Given the description of an element on the screen output the (x, y) to click on. 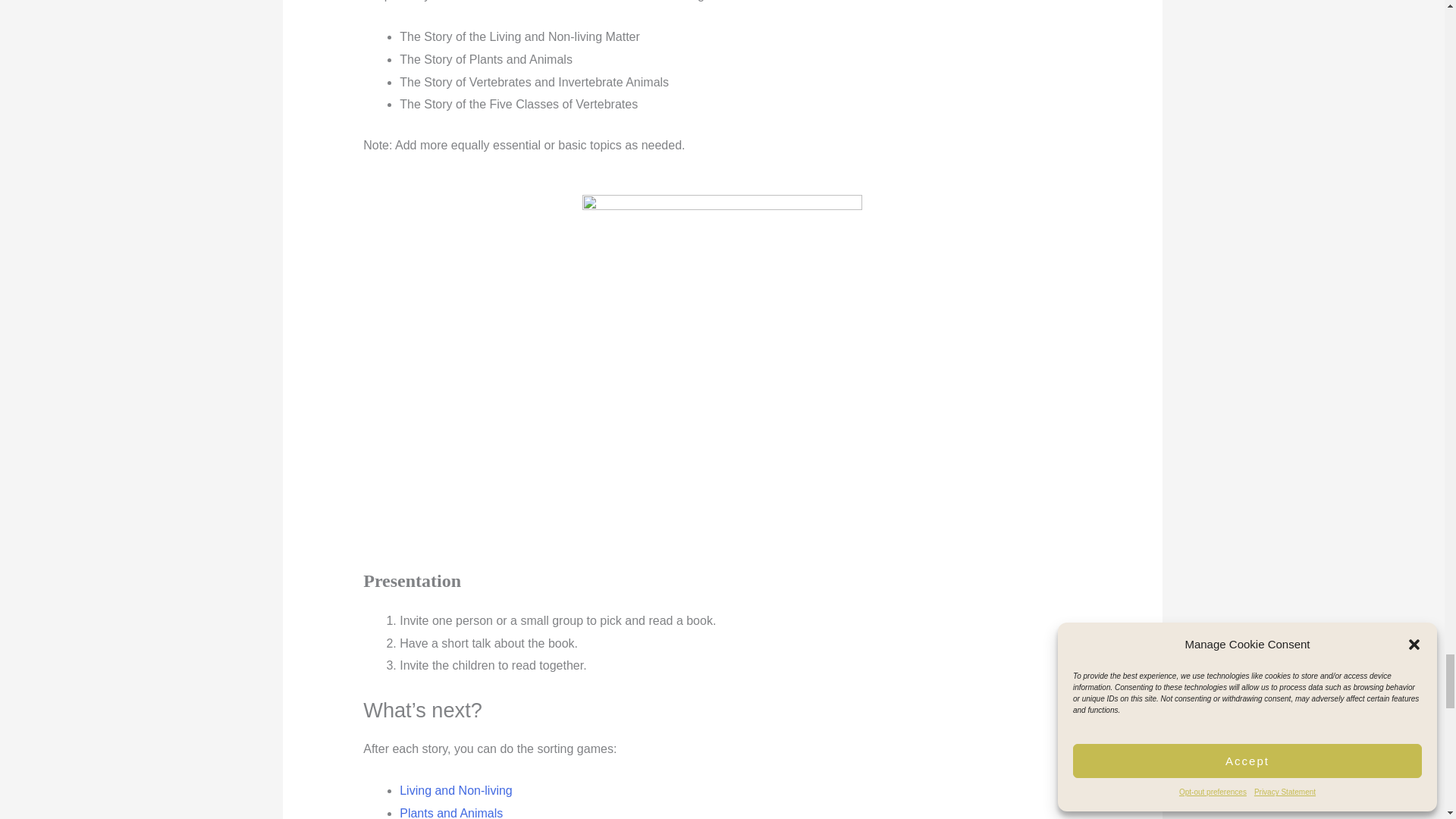
Simple Plants and Animals Sorting Game in Montessori (450, 812)
